Given the description of an element on the screen output the (x, y) to click on. 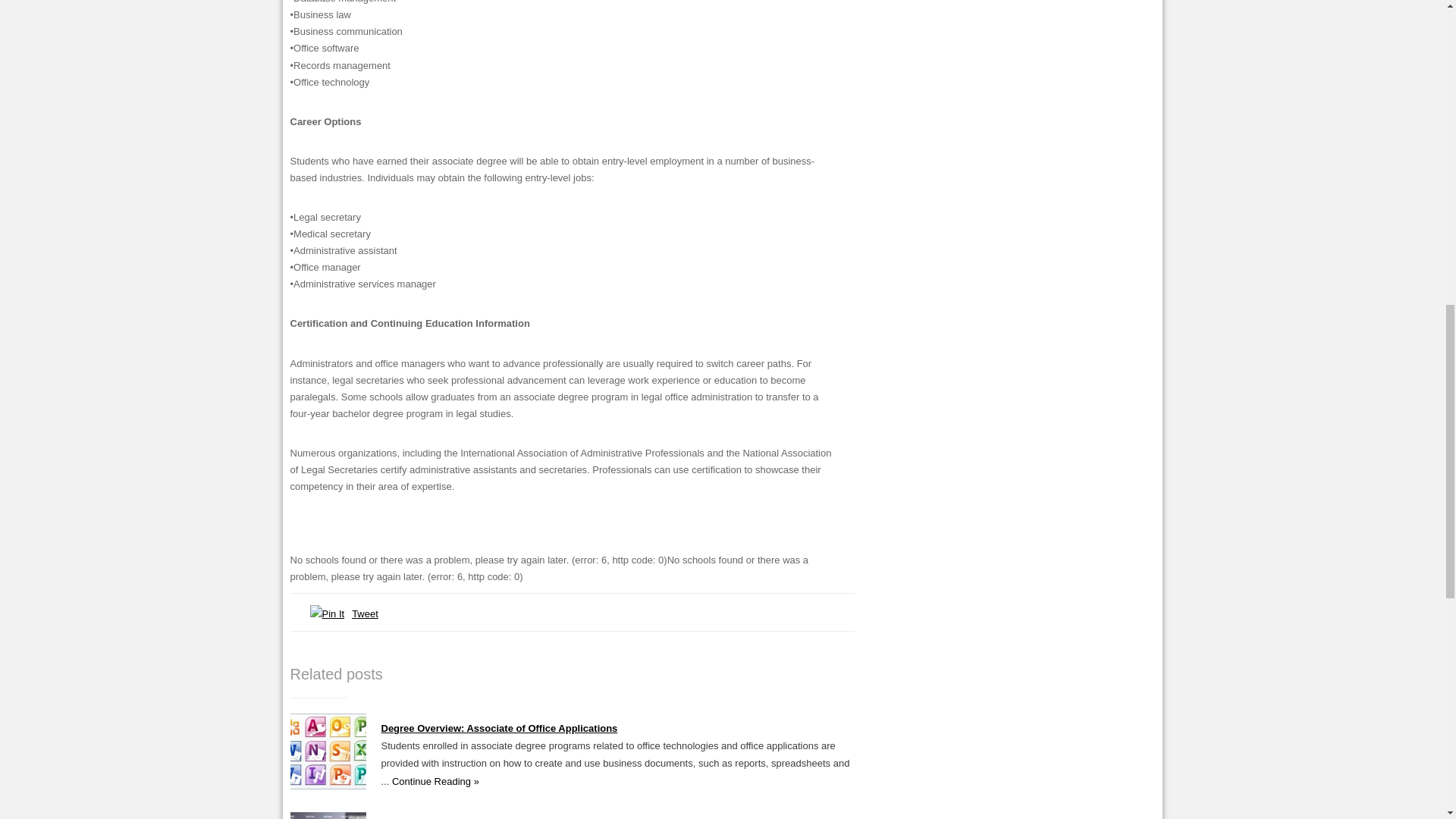
Tweet (365, 613)
Pin It (325, 613)
Degree Overview: Associate of Office Applications (327, 785)
Degree Overview: Associate of Office Applications (498, 727)
